Given the description of an element on the screen output the (x, y) to click on. 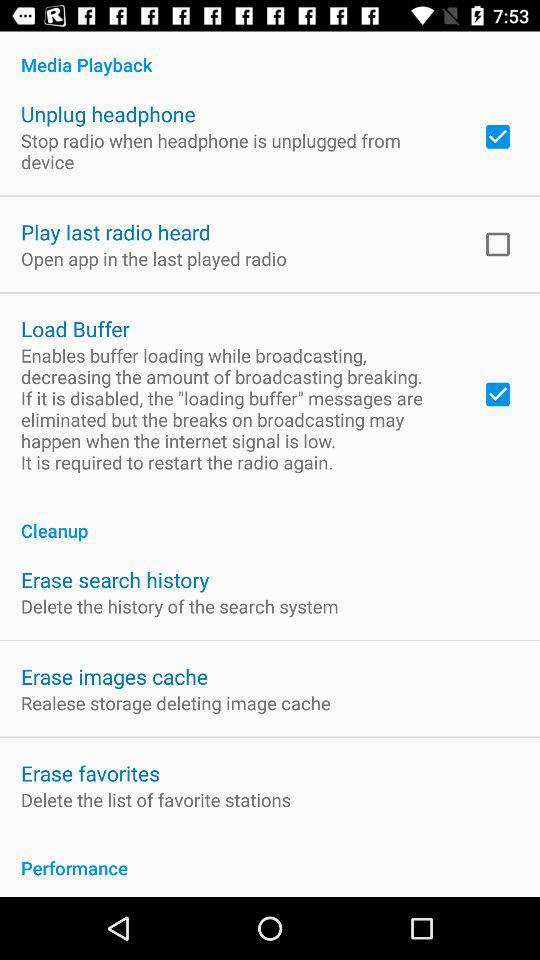
scroll until cleanup (270, 520)
